Given the description of an element on the screen output the (x, y) to click on. 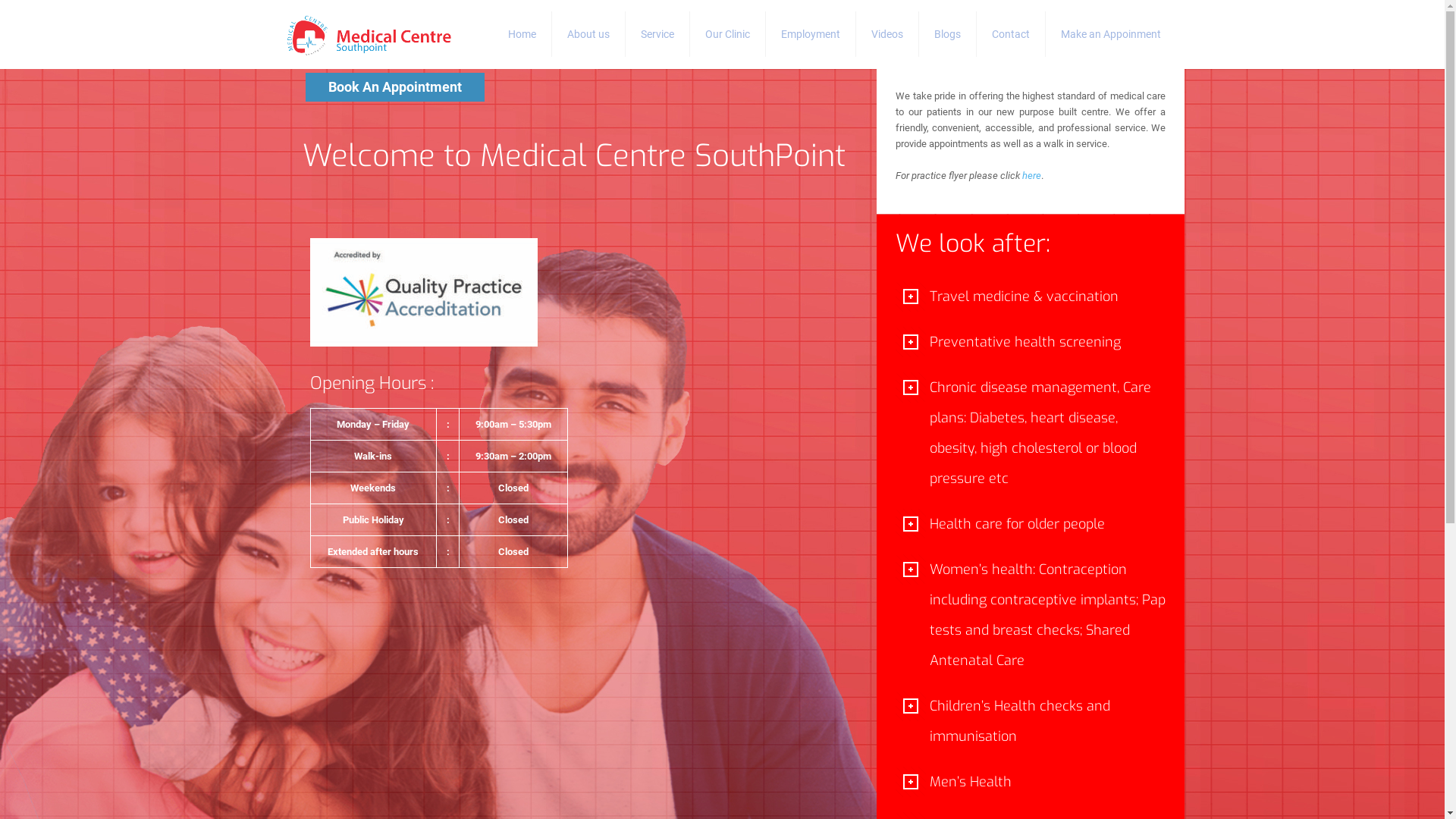
Blogs Element type: text (947, 34)
Contact Element type: text (1010, 34)
Employment Element type: text (810, 34)
Book An Appointment Element type: text (393, 86)
Service Element type: text (656, 34)
Videos Element type: text (886, 34)
Make an Appoinment Element type: text (1109, 34)
Medical Centre Element type: hover (368, 34)
here Element type: text (1031, 175)
About us Element type: text (588, 34)
Our Clinic Element type: text (727, 34)
Home Element type: text (522, 34)
